Given the description of an element on the screen output the (x, y) to click on. 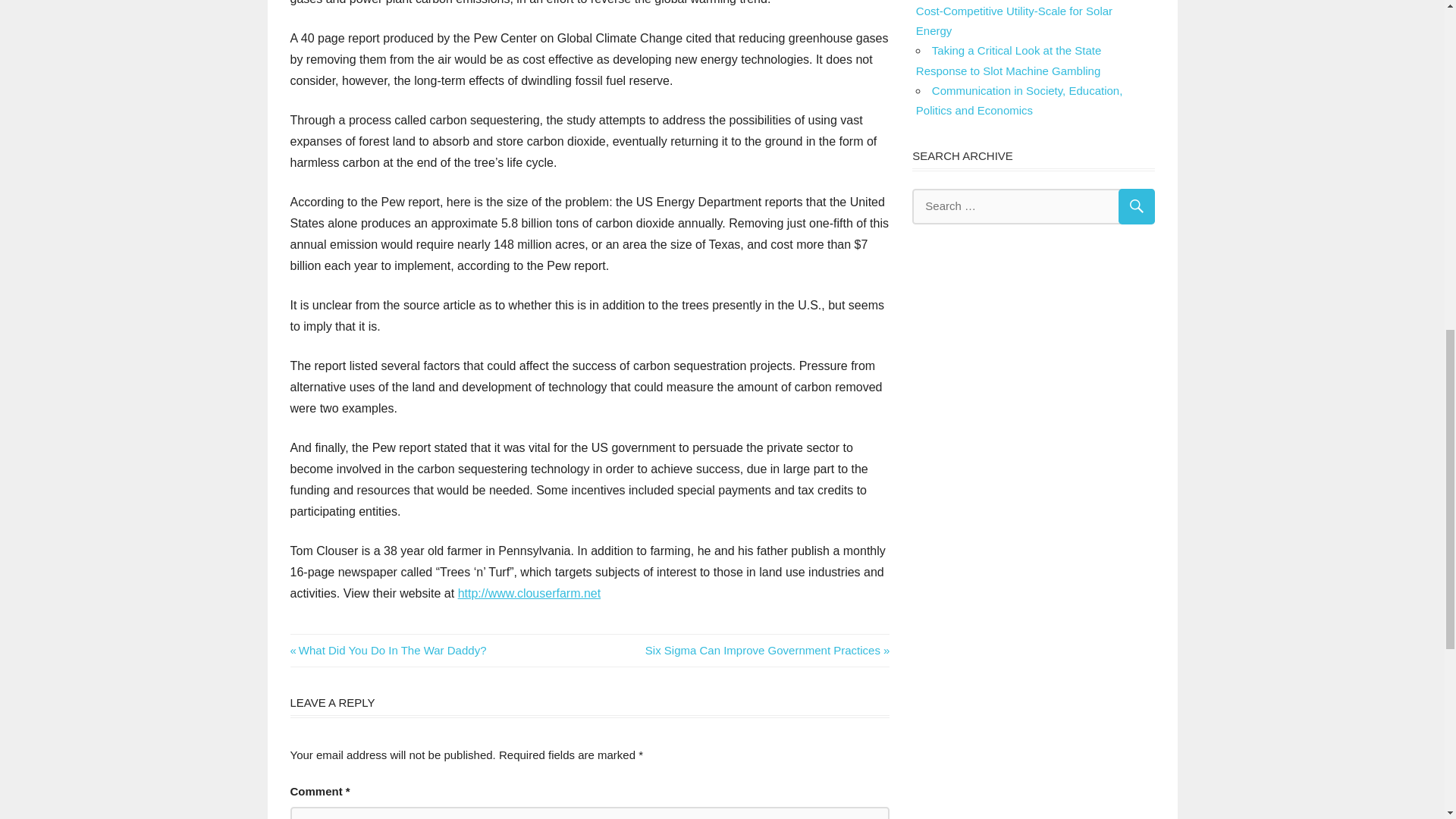
Communication in Society, Education, Politics and Economics (1018, 100)
Search for: (1033, 206)
